Given the description of an element on the screen output the (x, y) to click on. 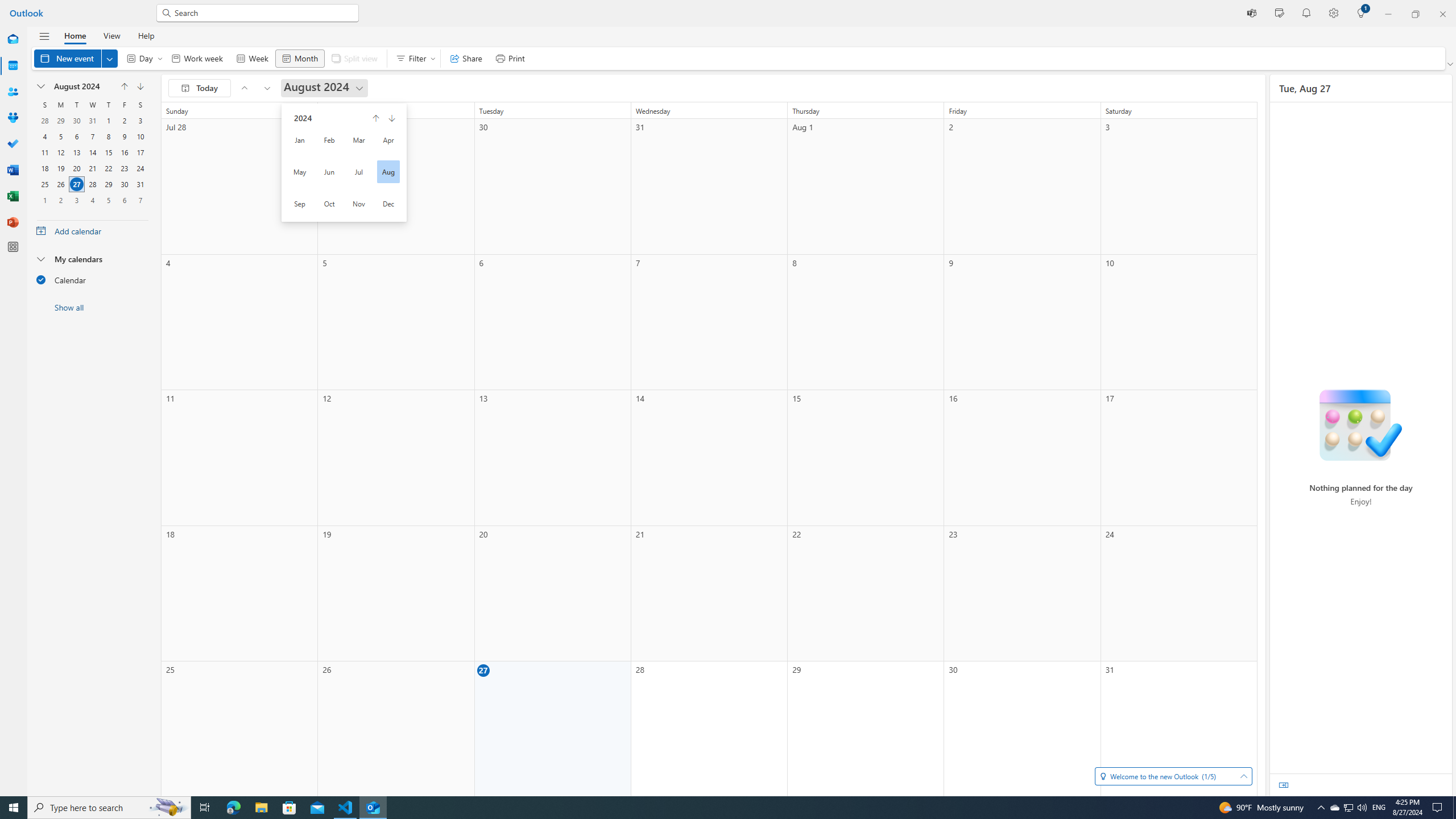
5, September, 2024 (108, 200)
Calendar (92, 279)
6, August, 2024 (76, 136)
2, September, 2024 (60, 200)
20, August, 2024 (76, 168)
13, August, 2024 (76, 152)
Work week (197, 58)
1, August, 2024 (108, 120)
August 2024 (324, 88)
Wednesday (92, 104)
5, August, 2024 (60, 136)
25, August, 2024 (44, 184)
4, August, 2024 (44, 136)
